Given the description of an element on the screen output the (x, y) to click on. 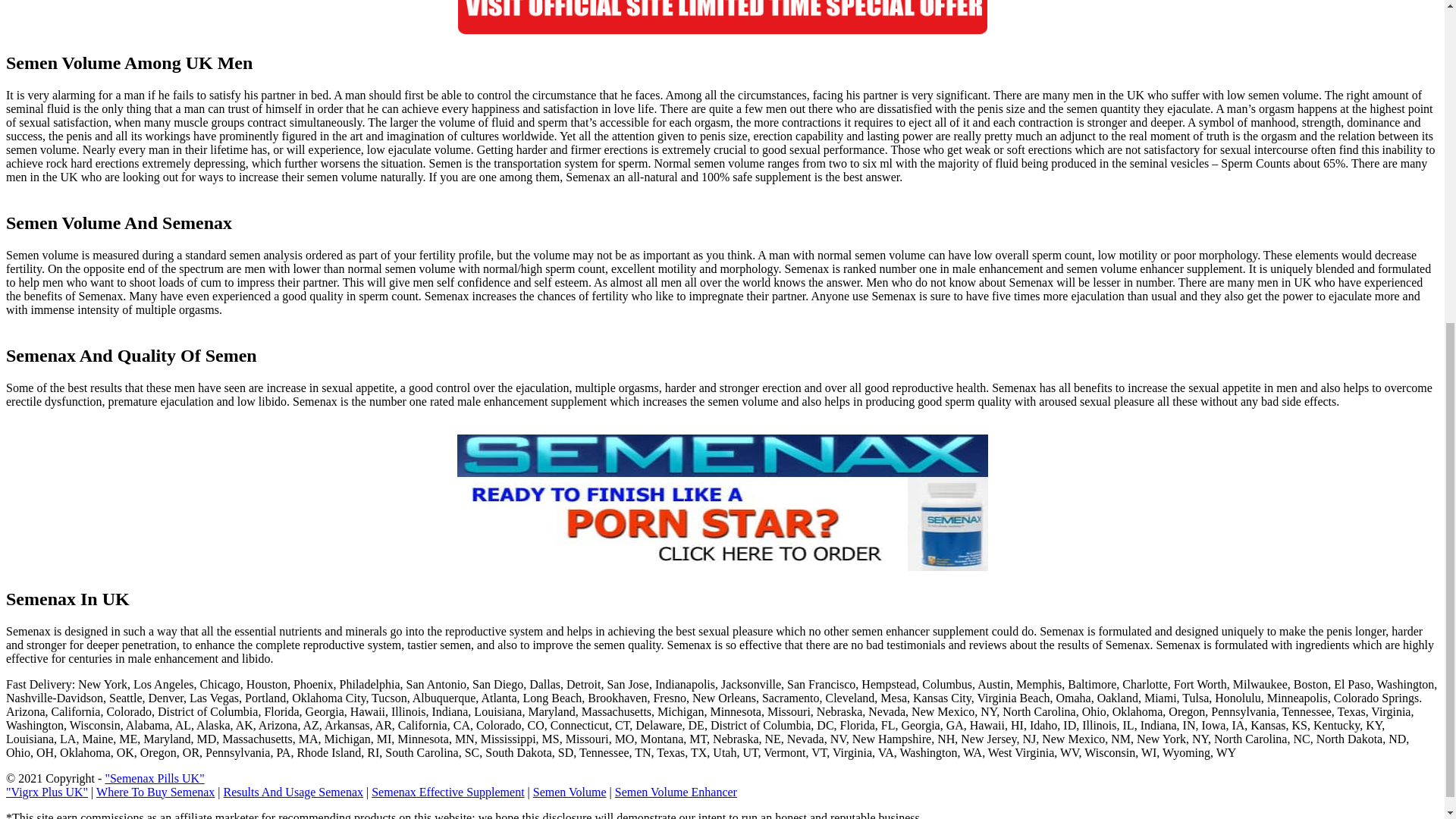
"Semenax Pills UK" (153, 778)
Semen Volume (569, 791)
Semenax Effective Supplement (447, 791)
Semenax (722, 502)
Semenax UK (722, 17)
Results And Usage Semenax (293, 791)
"Vigrx Plus UK" (46, 791)
Where To Buy Semenax (155, 791)
Semen Volume Enhancer (675, 791)
